Given the description of an element on the screen output the (x, y) to click on. 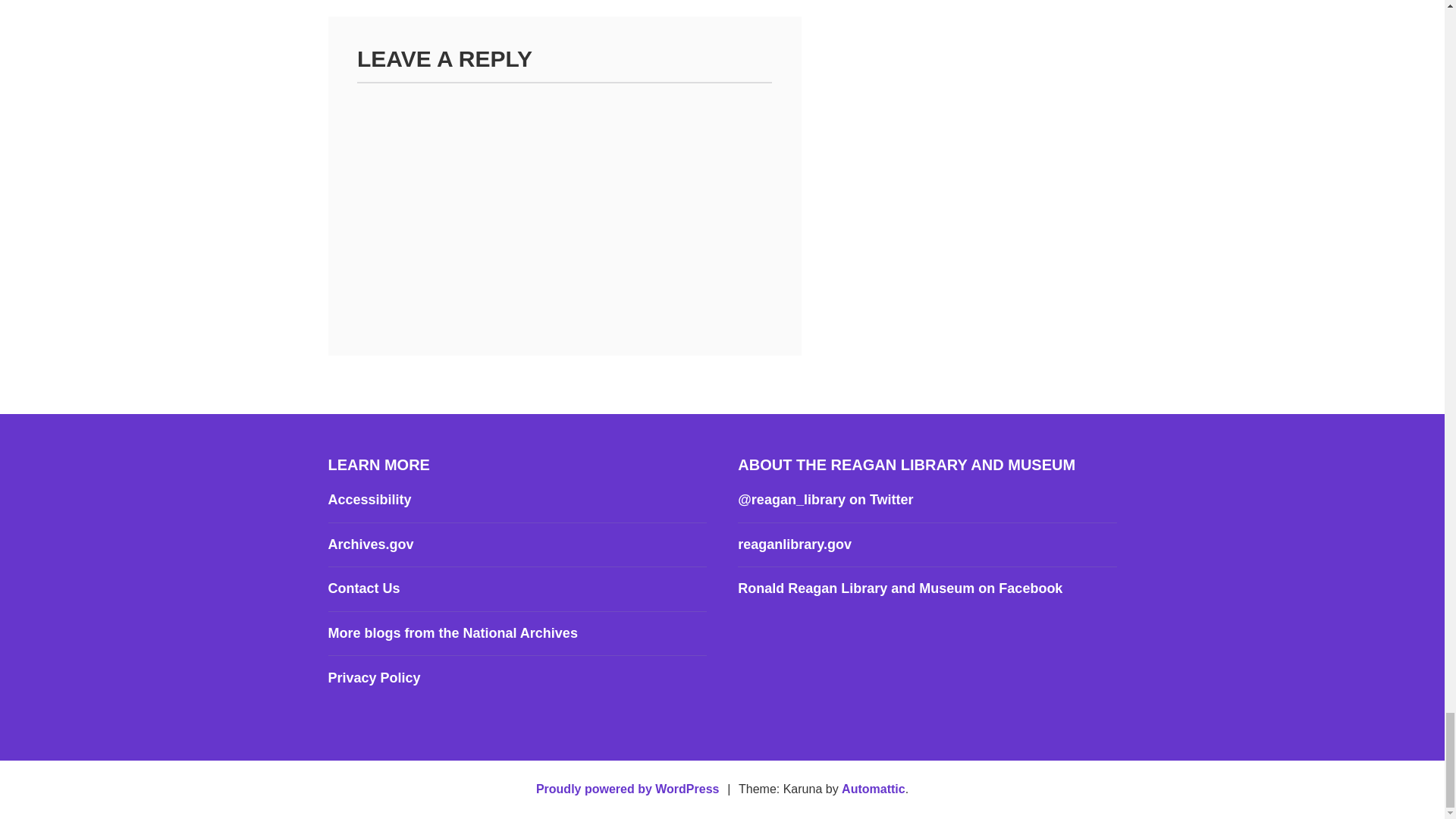
U.S. National Archives Blogroll (451, 632)
Website of the Ronald Reagan Presidential Library and Museum (794, 544)
Reagan Library Twitter handle (825, 499)
National Archives privacy policy (373, 677)
Contact information (362, 588)
Comment Form (563, 201)
Accessibility information on archives.gov (368, 499)
